Given the description of an element on the screen output the (x, y) to click on. 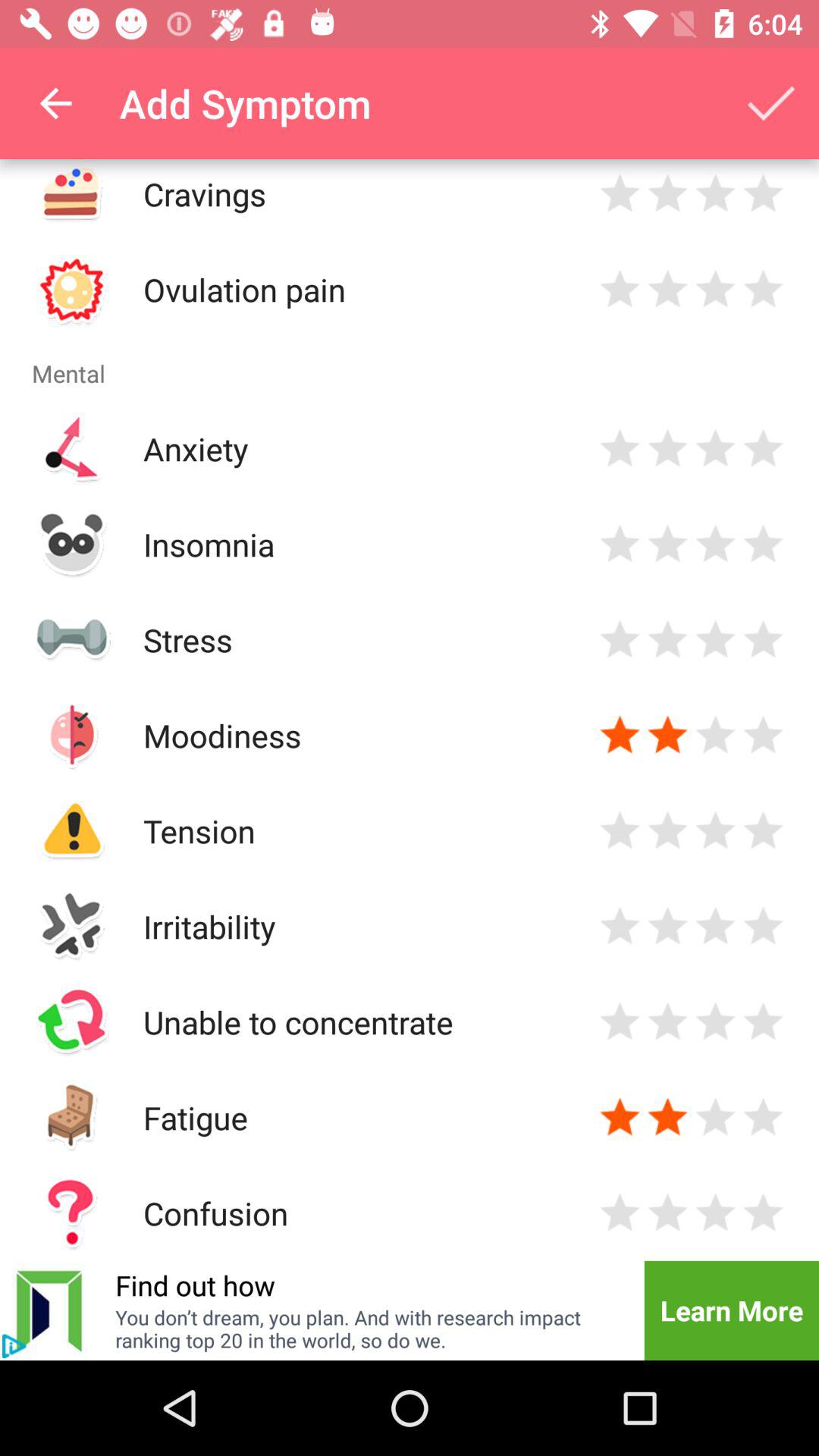
4 star rating (763, 926)
